Given the description of an element on the screen output the (x, y) to click on. 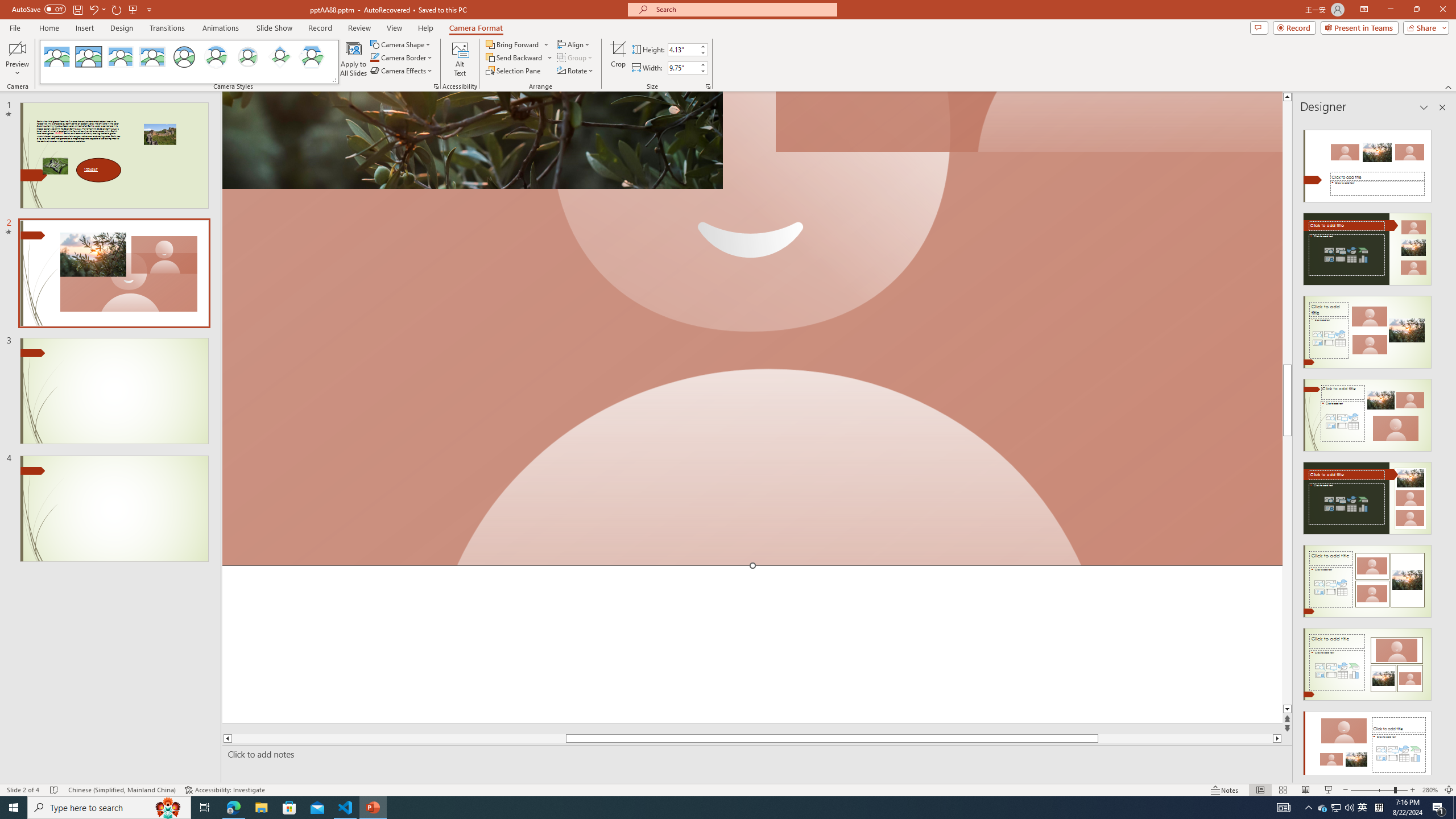
Action Center, 1 new notification (1439, 807)
Slide Notes (754, 754)
Camera Shape (400, 44)
